Given the description of an element on the screen output the (x, y) to click on. 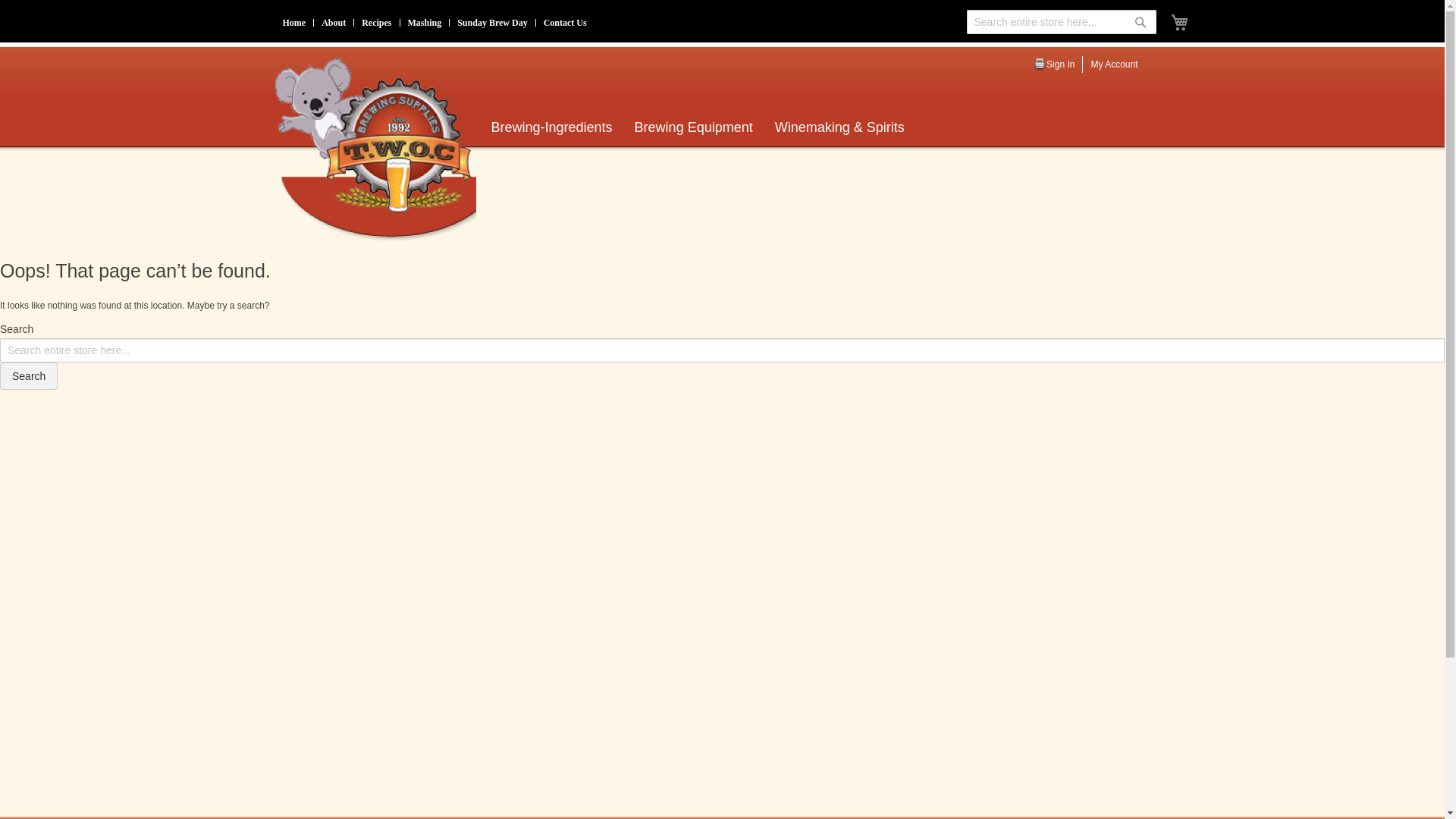
Search Element type: text (28, 375)
Sign In Element type: text (1060, 64)
Brewing Equipment Element type: text (693, 127)
Recipes Element type: text (376, 22)
Sunday Brew Day Element type: text (492, 22)
My Cart Element type: text (1179, 21)
Contact Us Element type: text (564, 22)
Home Element type: text (293, 22)
About Element type: text (333, 22)
My Account Element type: text (1113, 64)
Winemaking & Spirits Element type: text (839, 127)
Brewing-Ingredients Element type: text (551, 127)
Mashing Element type: text (424, 22)
Search Element type: text (1139, 21)
